Given the description of an element on the screen output the (x, y) to click on. 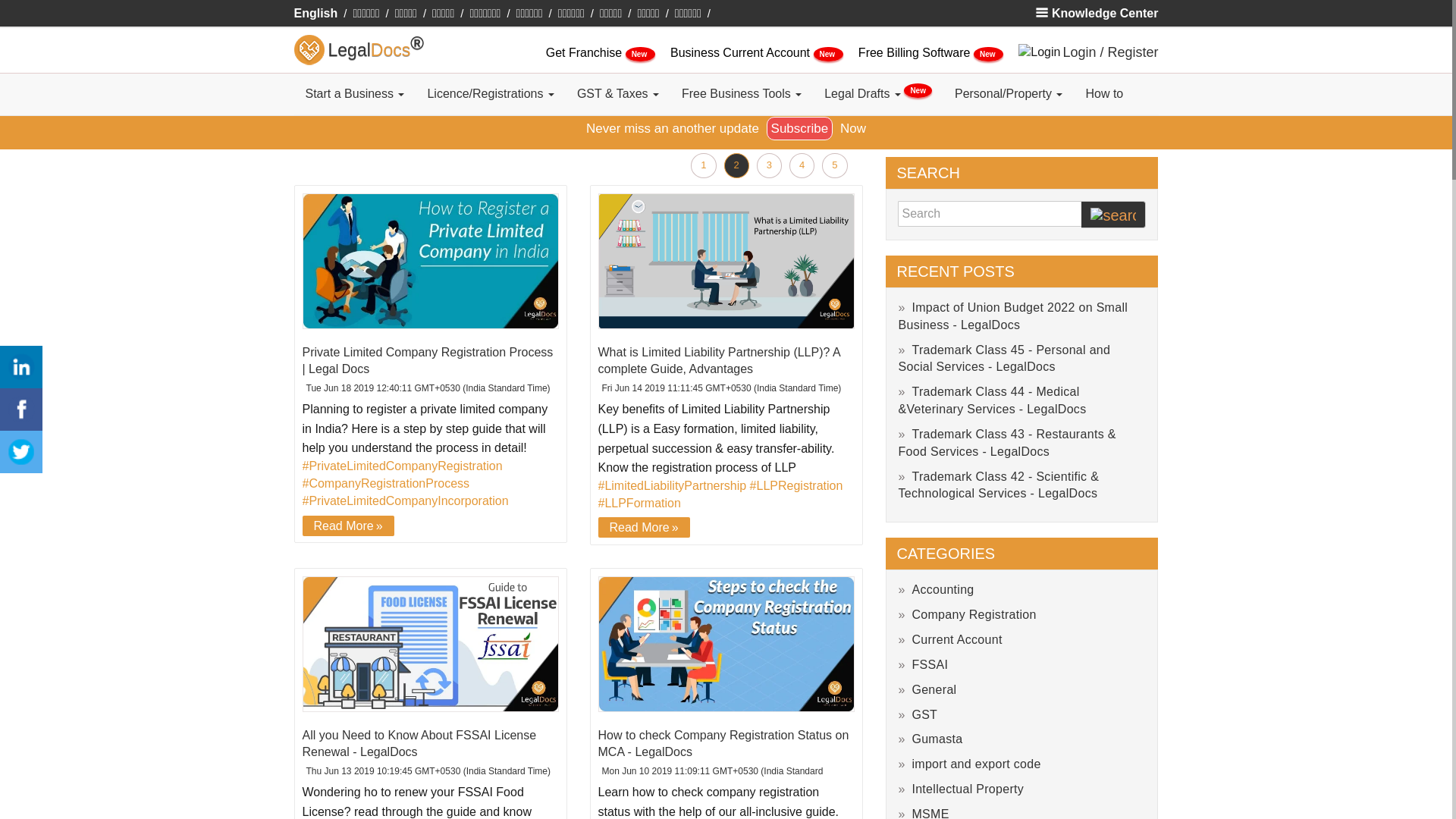
Free Billing Software (916, 51)
Business Current Account (741, 51)
LegalDocs (309, 50)
Get Franchise (586, 51)
Start a Business (355, 93)
English (315, 12)
